Given the description of an element on the screen output the (x, y) to click on. 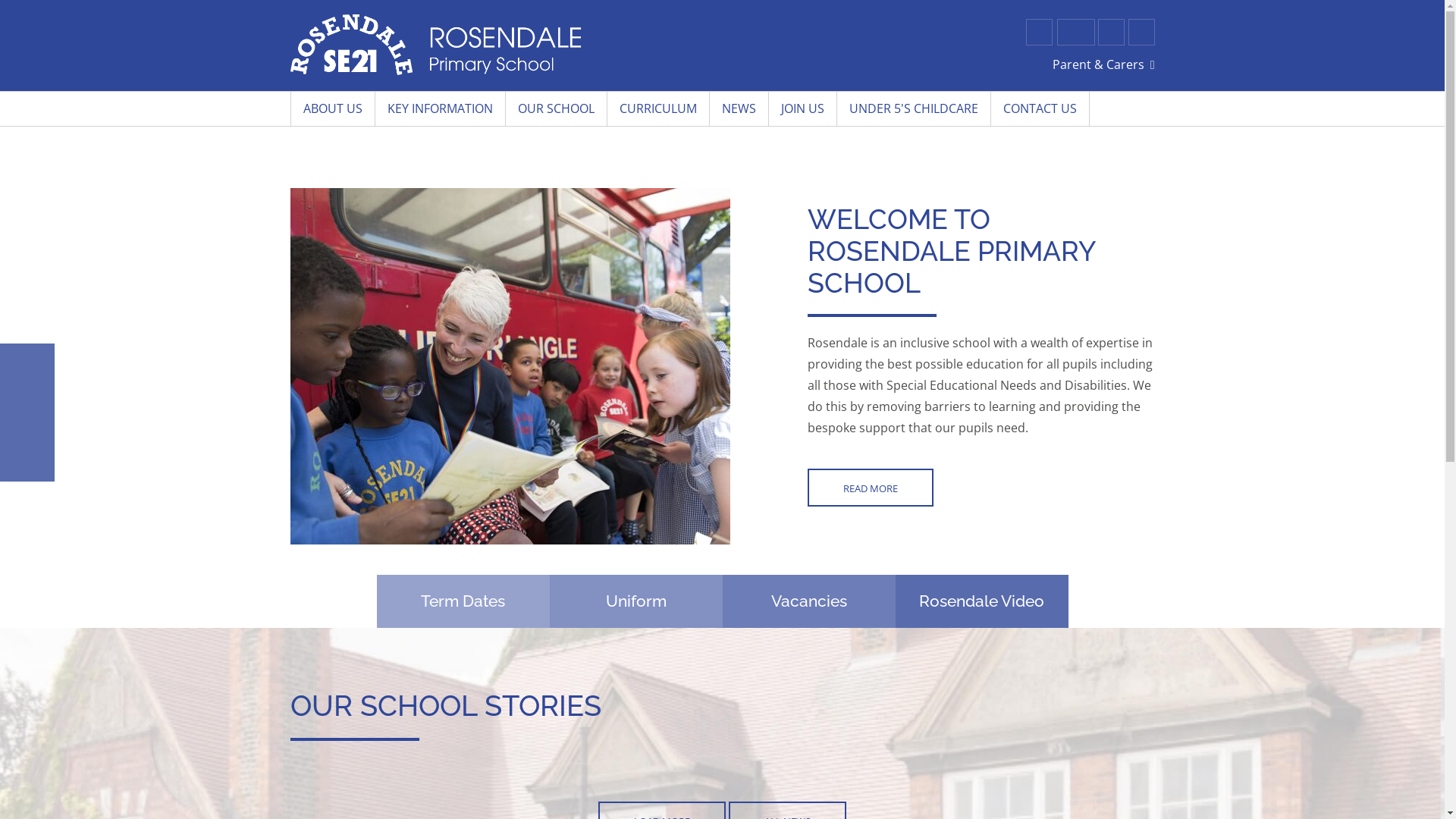
Rosendale Video Element type: text (980, 600)
READ MORE Element type: text (870, 487)
UNDER 5'S CHILDCARE Element type: text (914, 108)
CURRICULUM Element type: text (657, 108)
Rosendale Primary School Element type: hover (435, 44)
ABOUT US Element type: text (331, 108)
CONTACT US Element type: text (1039, 108)
Term Dates Element type: text (462, 600)
Twitter Element type: hover (1038, 31)
NEWS Element type: text (738, 108)
KEY INFORMATION Element type: text (439, 108)
Vacancies Element type: text (807, 600)
OUR SCHOOL Element type: text (555, 108)
Contact Us Element type: hover (1111, 31)
Uniform Element type: text (635, 600)
JOIN US Element type: text (802, 108)
Parent & Carers Element type: text (1103, 64)
